Given the description of an element on the screen output the (x, y) to click on. 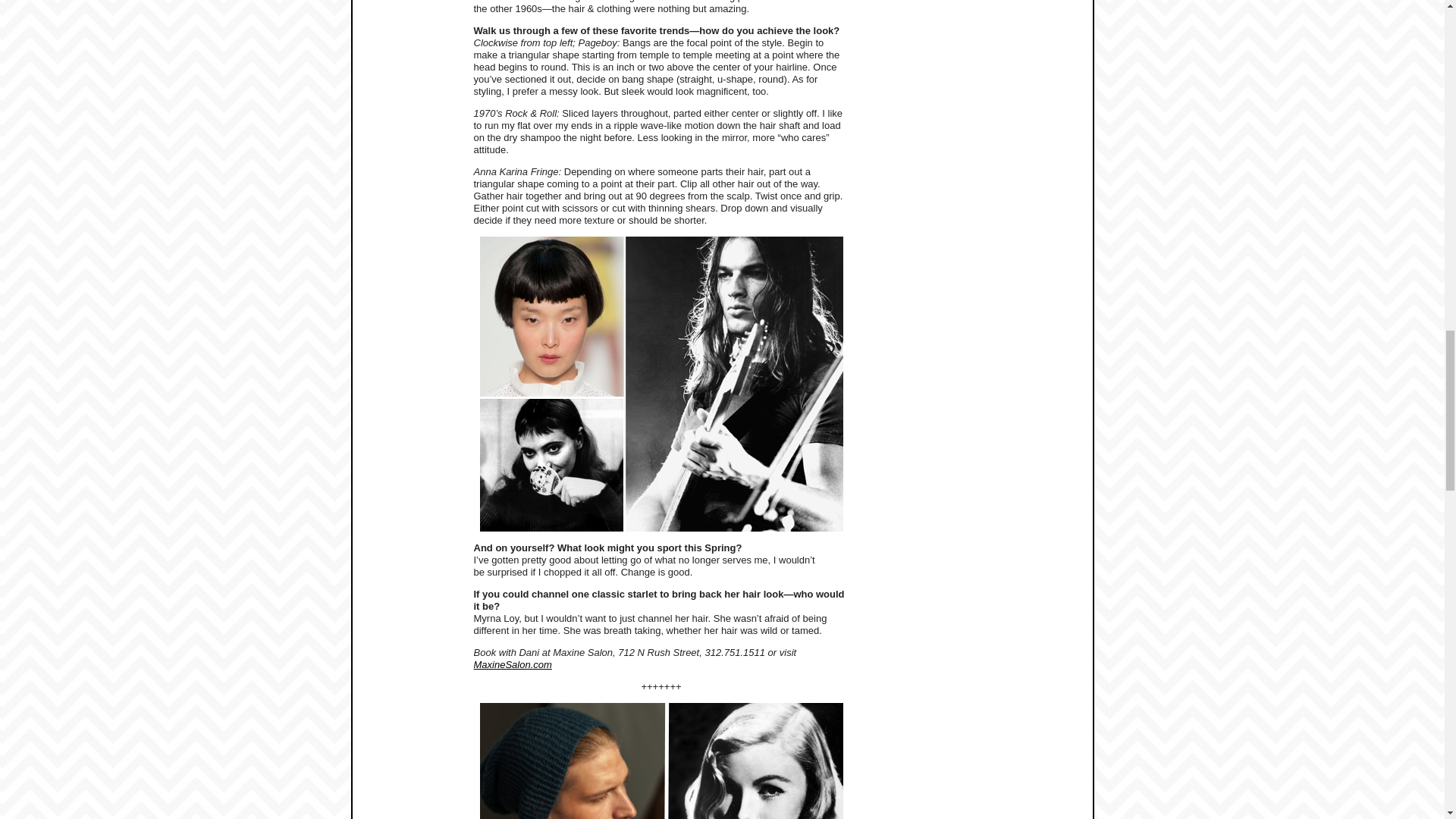
MaxineSalon.com (512, 664)
